Given the description of an element on the screen output the (x, y) to click on. 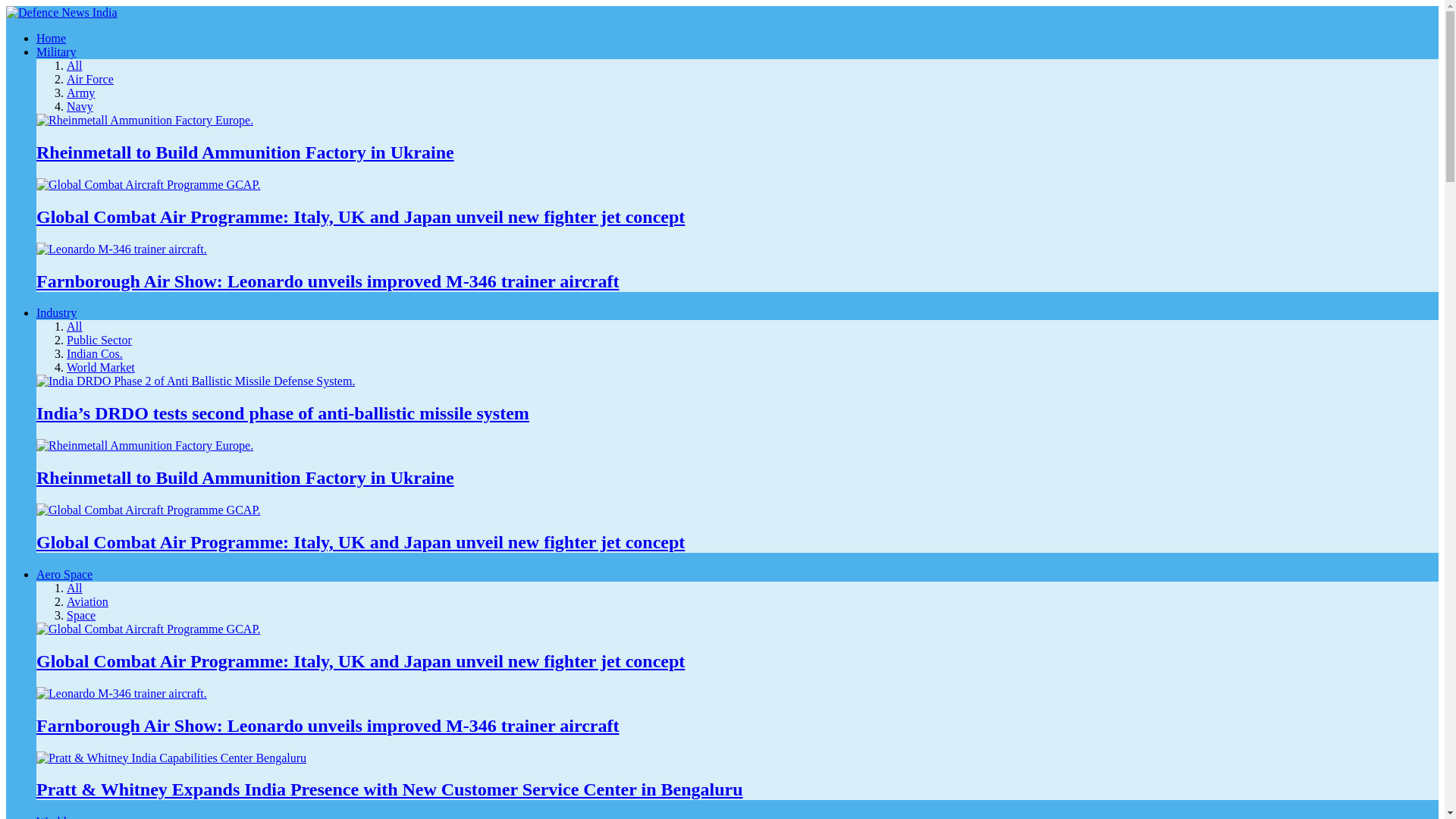
World (51, 816)
Aviation (86, 601)
Indian Cos. (94, 353)
Space (81, 615)
Rheinmetall to Build Ammunition Factory in Ukraine (144, 445)
Rheinmetall to Build Ammunition Factory in Ukraine (245, 477)
Military (55, 51)
Aero Space (64, 574)
Rheinmetall to Build Ammunition Factory in Ukraine (144, 445)
